Given the description of an element on the screen output the (x, y) to click on. 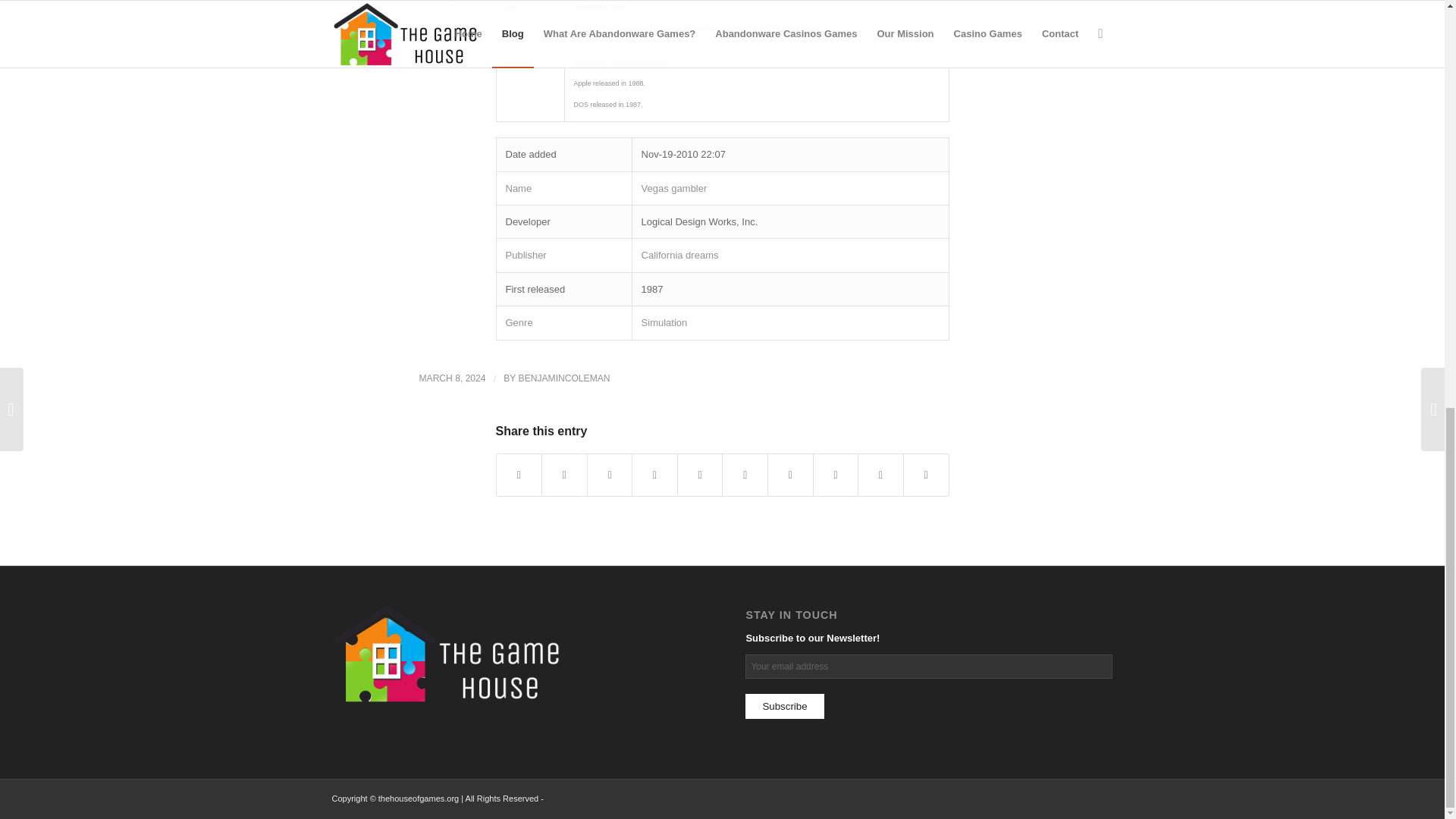
Posts by BenjaminColeman (564, 378)
Subscribe (784, 706)
Subscribe (784, 706)
BENJAMINCOLEMAN (564, 378)
